Given the description of an element on the screen output the (x, y) to click on. 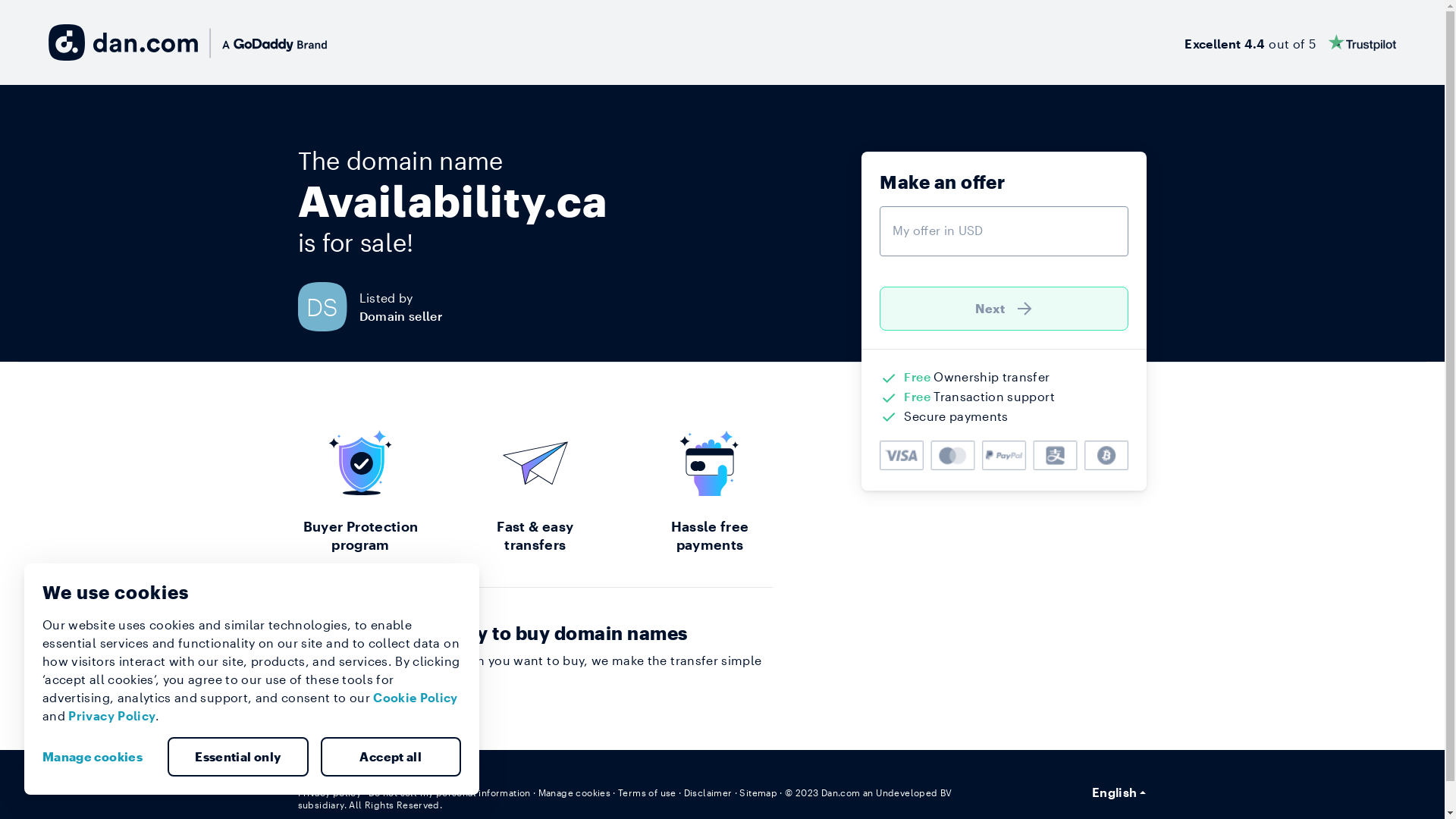
Cookie Policy Element type: text (415, 697)
Accept all Element type: text (390, 756)
Do not sell my personal information Element type: text (449, 792)
DS Element type: text (327, 306)
English Element type: text (1119, 792)
Privacy Policy Element type: text (111, 715)
Essential only Element type: text (237, 756)
Excellent 4.4 out of 5 Element type: text (1290, 42)
Privacy policy Element type: text (328, 792)
Disclaimer Element type: text (708, 792)
Next
) Element type: text (1003, 308)
Terms of use Element type: text (647, 792)
Manage cookies Element type: text (98, 756)
Sitemap Element type: text (758, 792)
Manage cookies Element type: text (574, 792)
